Given the description of an element on the screen output the (x, y) to click on. 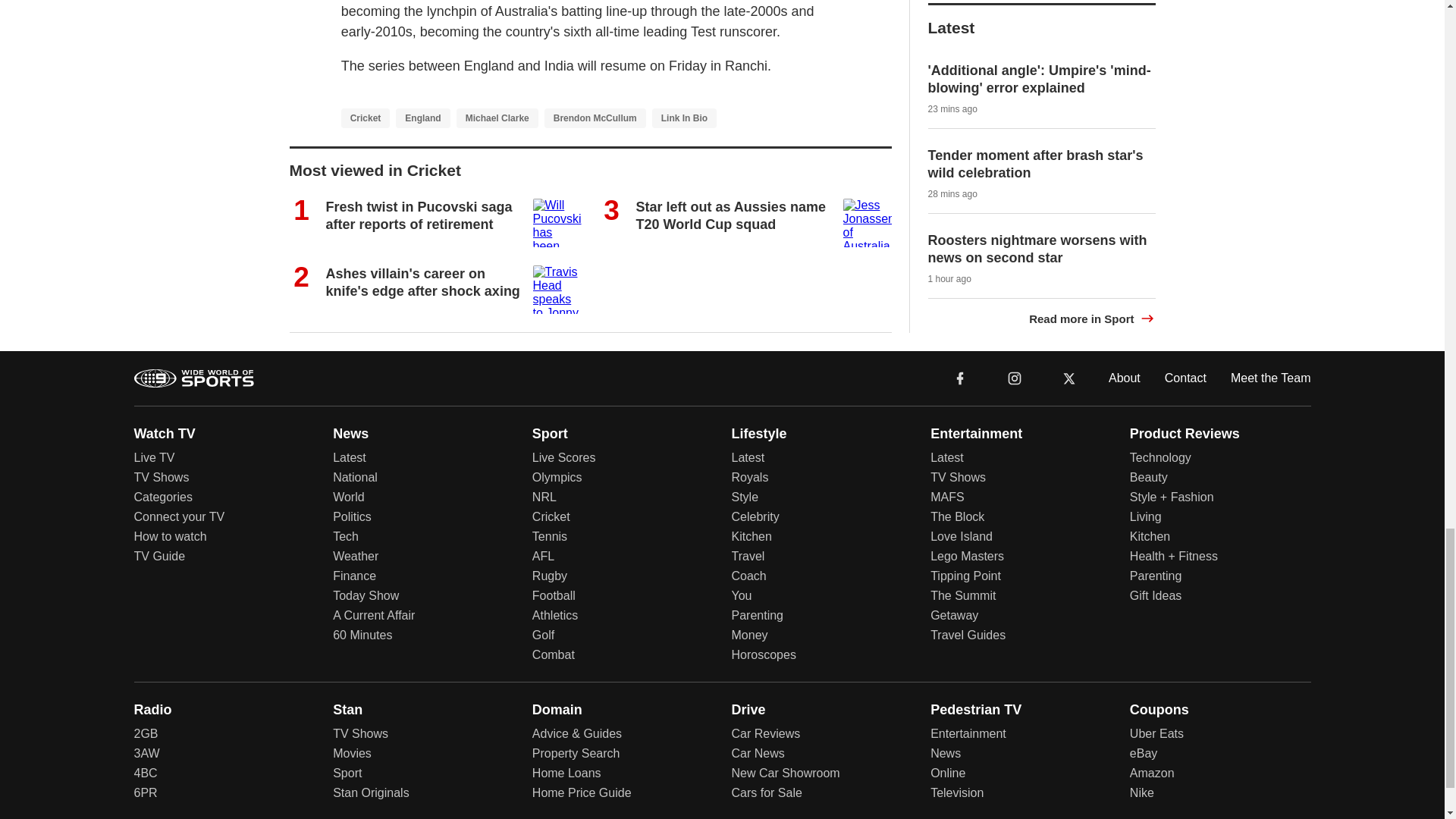
x (1069, 377)
England (422, 117)
Link In Bio (684, 117)
facebook (960, 378)
Brendon McCullum (595, 117)
facebook (959, 377)
instagram (1013, 377)
instagram (1014, 378)
x (1069, 378)
Michael Clarke (497, 117)
